Given the description of an element on the screen output the (x, y) to click on. 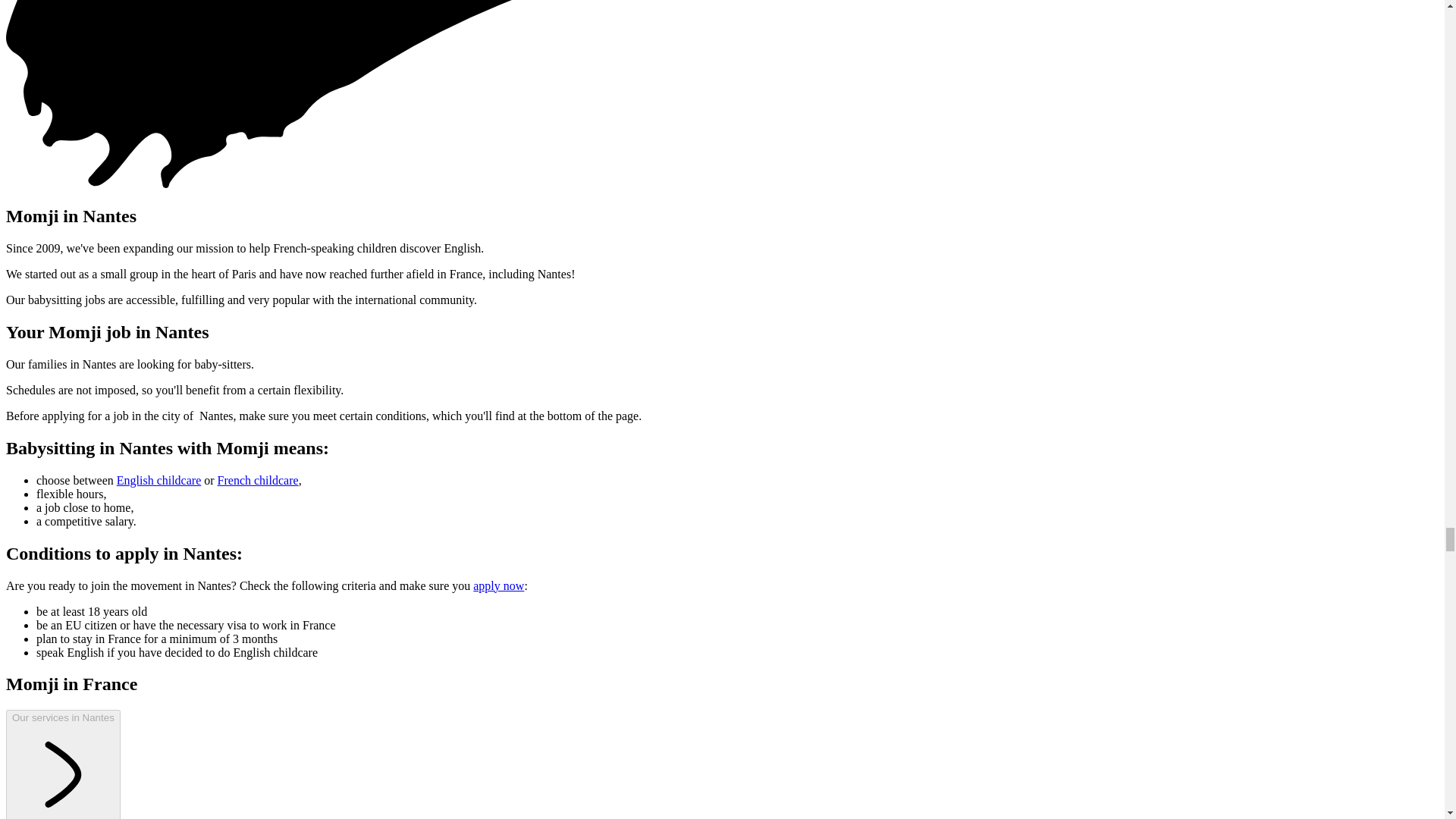
Our services in Nantes (62, 764)
English childcare (159, 480)
French childcare (257, 480)
apply now (498, 585)
